Given the description of an element on the screen output the (x, y) to click on. 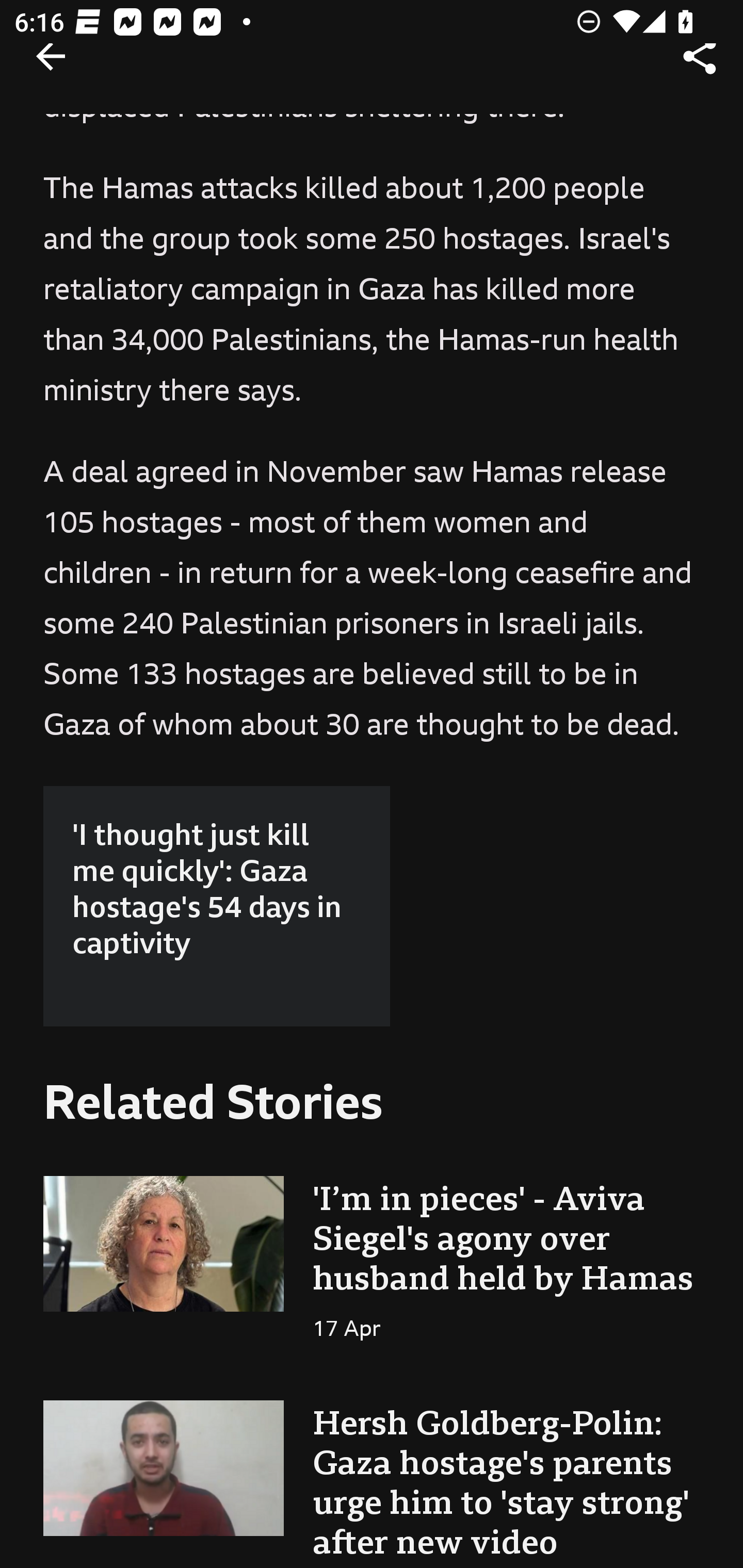
Back (50, 74)
Share (699, 70)
